Given the description of an element on the screen output the (x, y) to click on. 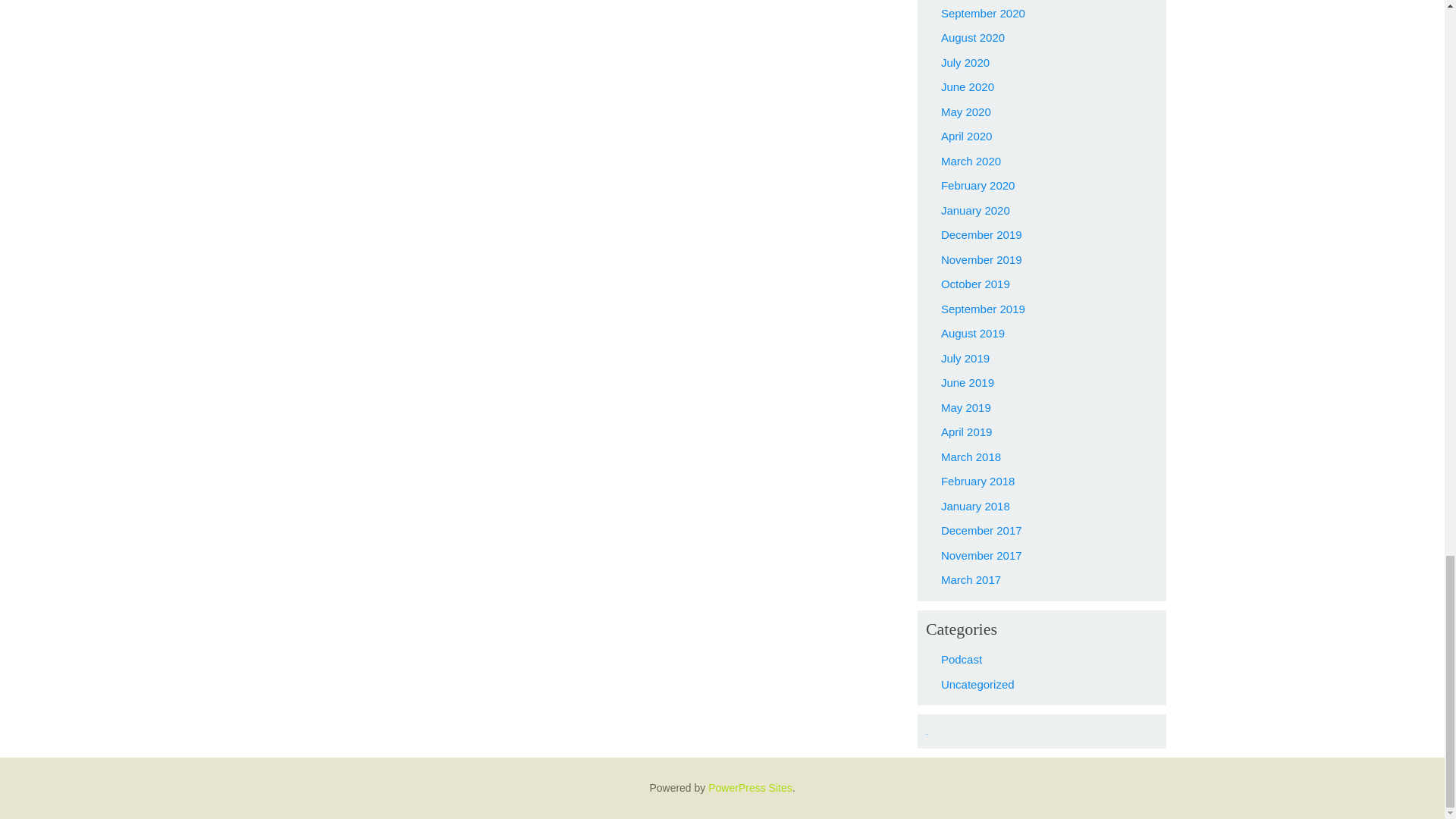
Managed WordPress Hosting for your audio and video website (749, 787)
